Given the description of an element on the screen output the (x, y) to click on. 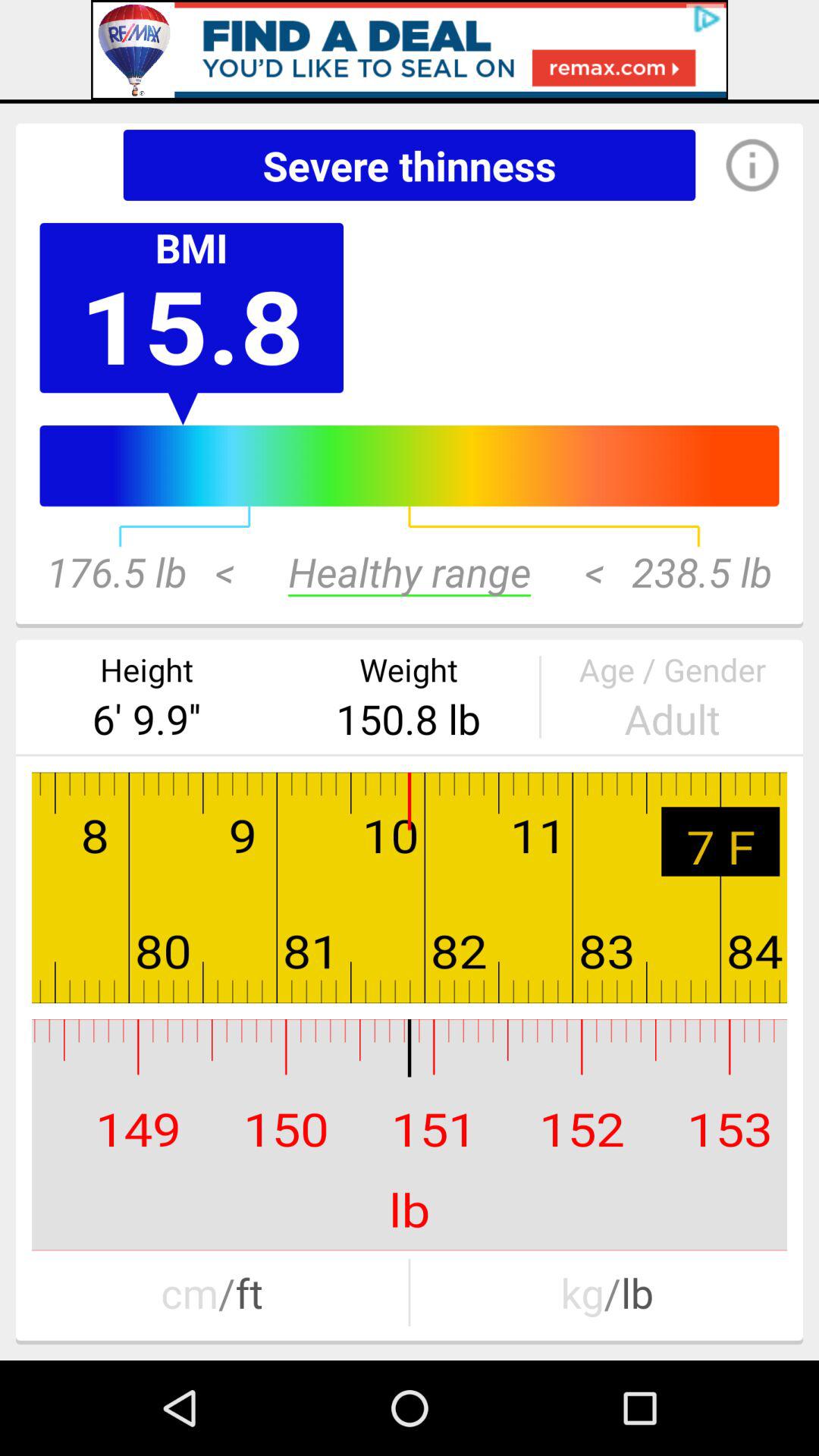
advertisement (409, 49)
